Given the description of an element on the screen output the (x, y) to click on. 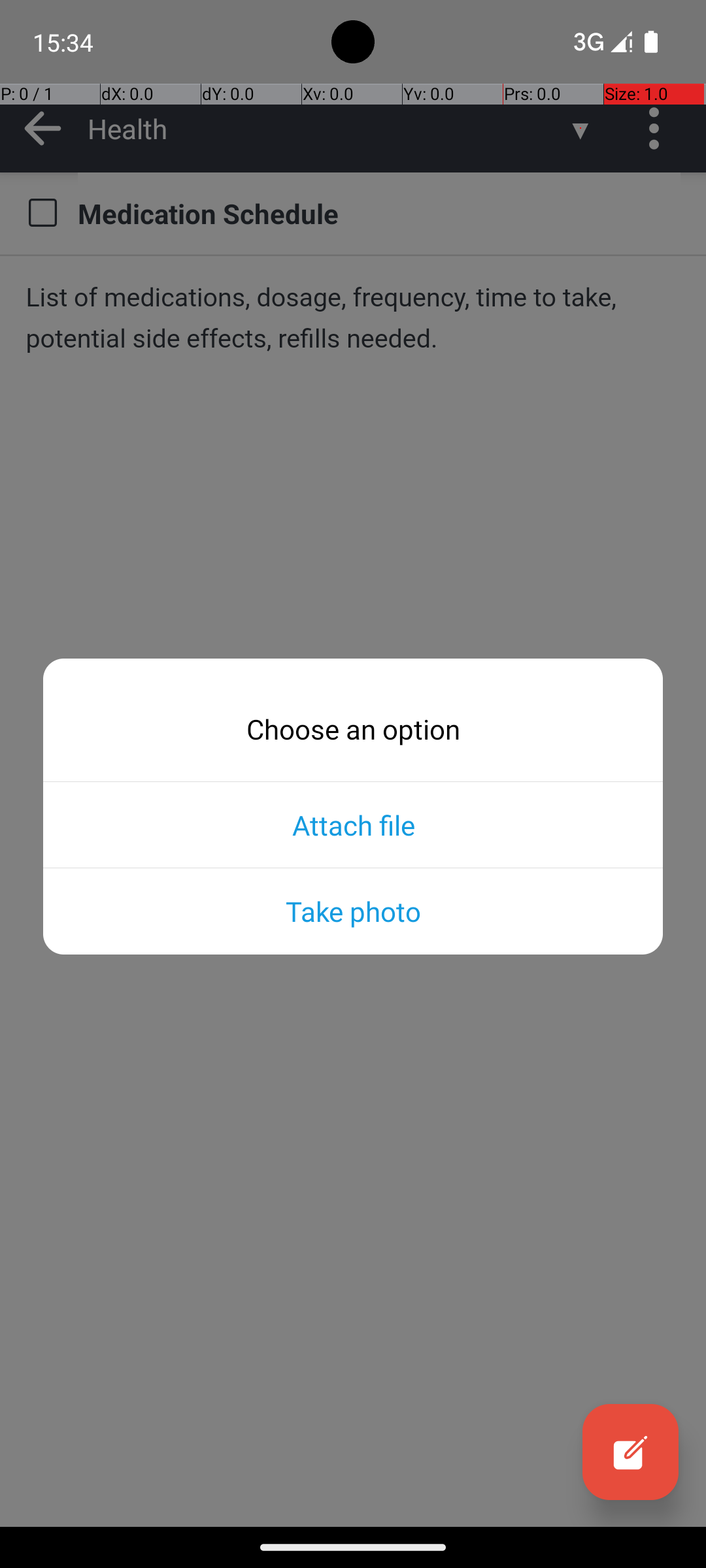
Choose an option Element type: android.widget.TextView (353, 728)
Medication Schedule Element type: android.widget.EditText (378, 213)
Edit, collapsed Element type: android.widget.Button (630, 1452)
Attach file Element type: android.widget.TextView (352, 824)
Take photo Element type: android.widget.TextView (352, 910)
 Element type: android.widget.TextView (42, 127)
Health Element type: android.widget.TextView (326, 128)
▼ Element type: android.widget.TextView (580, 128)
Actions Element type: android.view.ViewGroup (658, 127)
 Element type: android.widget.TextView (42, 212)
 Element type: android.widget.TextView (630, 1451)
 Element type: android.widget.TextView (658, 127)
List of medications, dosage, frequency, time to take, potential side effects, refills needed. Element type: android.widget.TextView (352, 317)
